Given the description of an element on the screen output the (x, y) to click on. 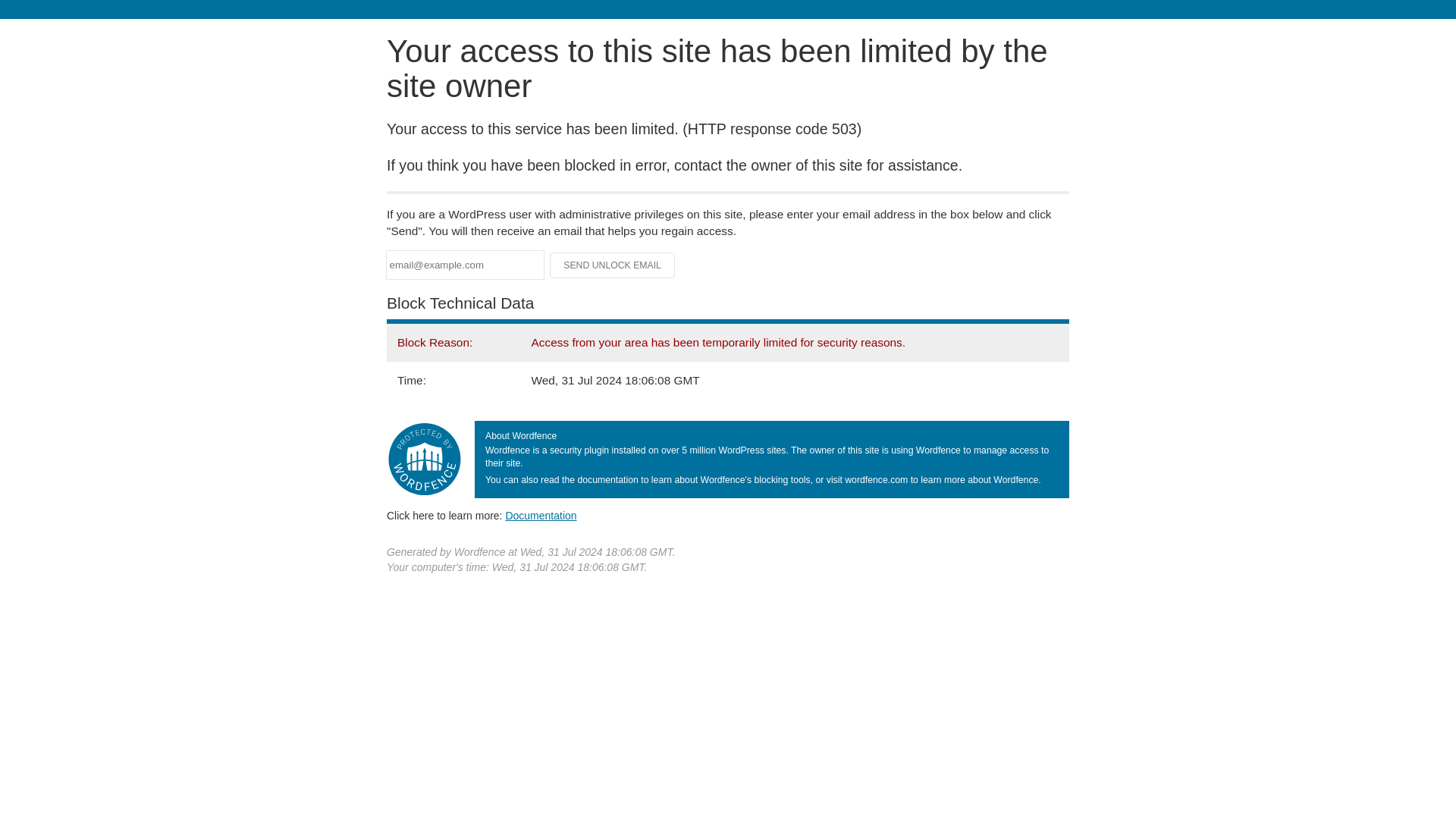
Send Unlock Email (612, 265)
Send Unlock Email (612, 265)
Documentation (540, 515)
